Given the description of an element on the screen output the (x, y) to click on. 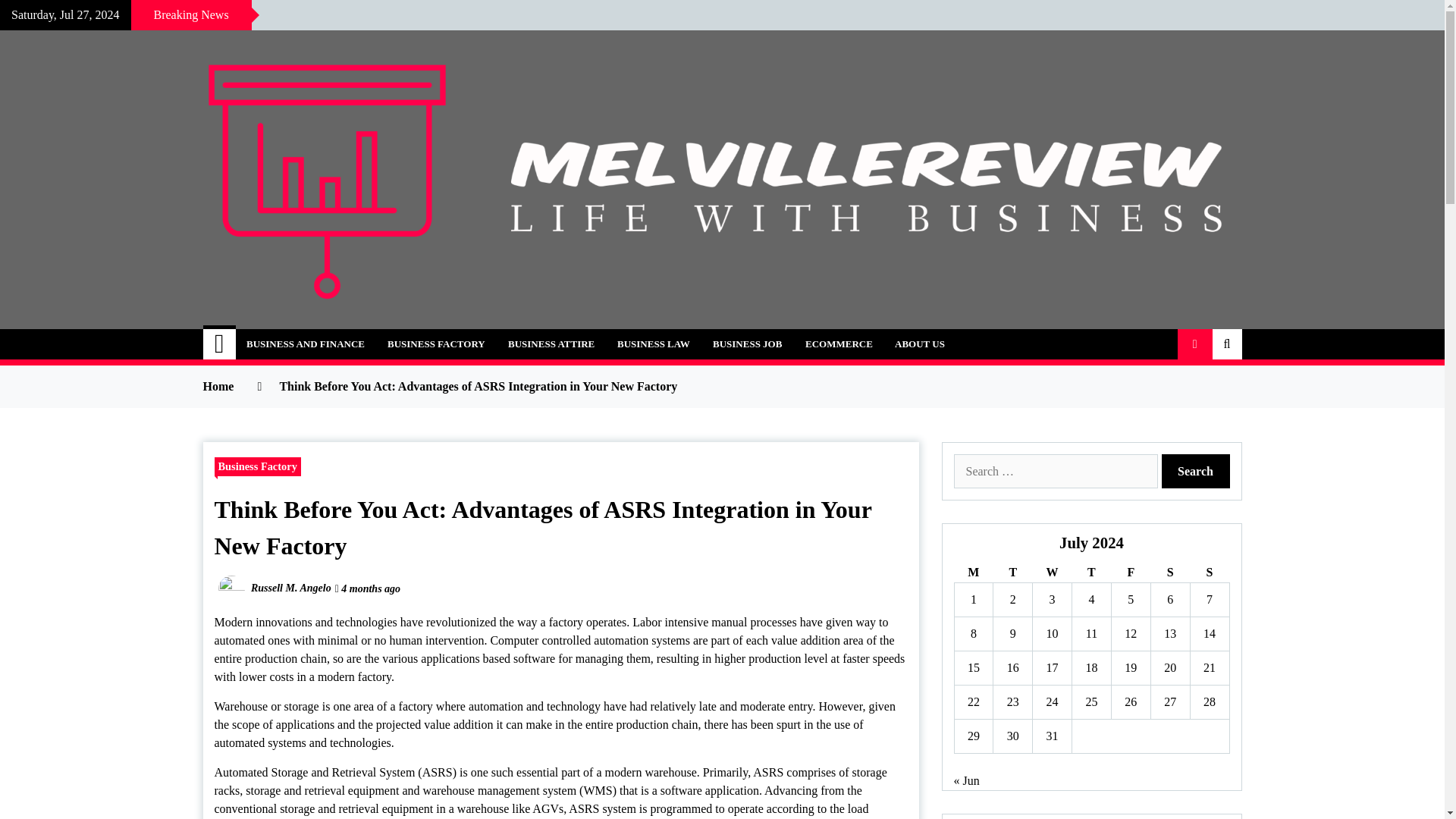
Search (1195, 471)
Tuesday (1012, 572)
BUSINESS ATTIRE (550, 344)
Friday (1130, 572)
BUSINESS JOB (747, 344)
ECOMMERCE (838, 344)
ABOUT US (919, 344)
Wednesday (1051, 572)
Monday (972, 572)
BUSINESS FACTORY (435, 344)
BUSINESS LAW (653, 344)
Saturday (1169, 572)
Search (1195, 471)
BUSINESS AND FINANCE (304, 344)
Home (219, 344)
